Given the description of an element on the screen output the (x, y) to click on. 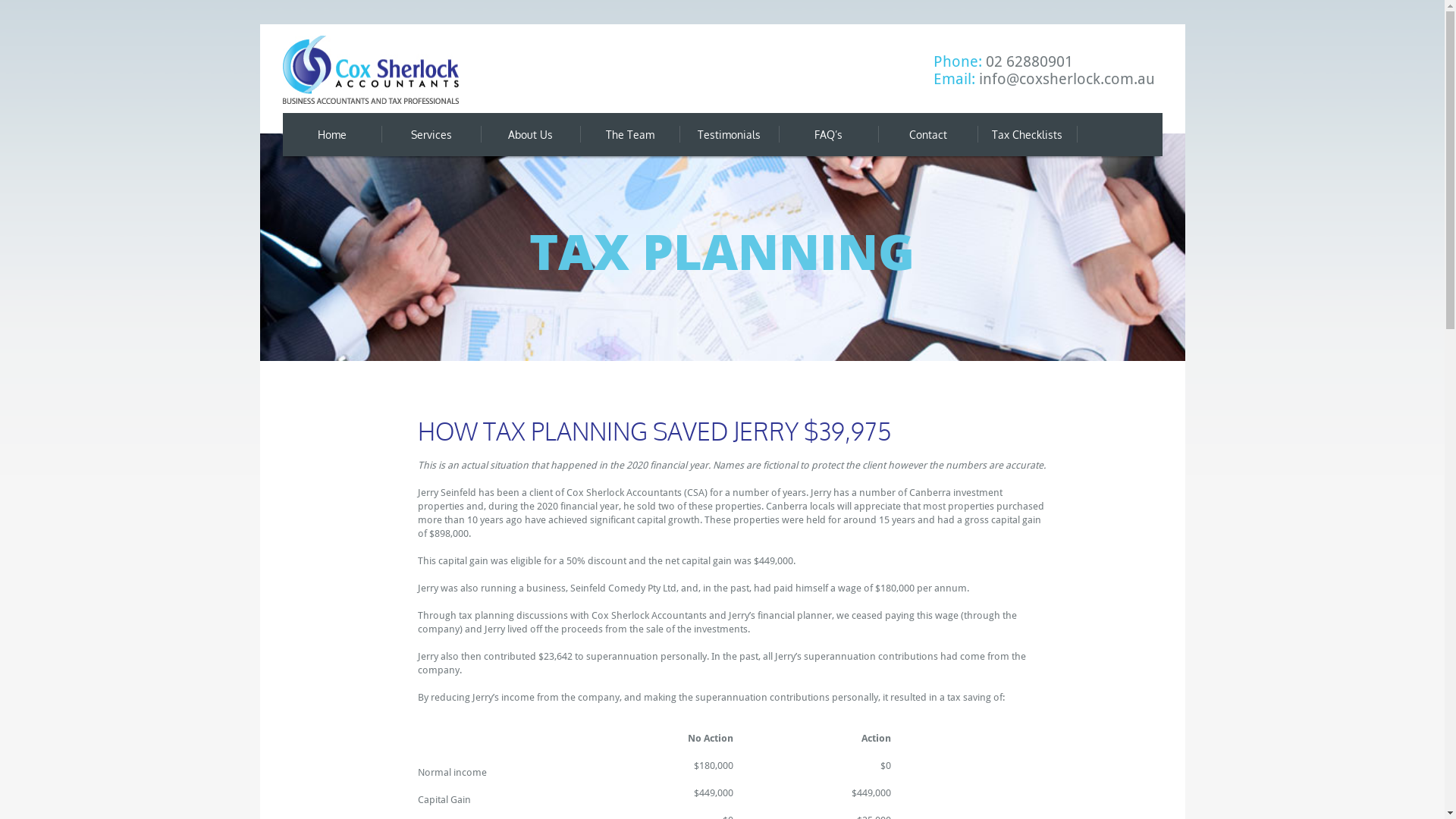
Testimonials Element type: text (729, 134)
The Team Element type: text (629, 134)
Contact Element type: text (928, 134)
Cox Sherlock Accounting Element type: hover (370, 69)
Tax Checklists Element type: text (1026, 134)
Services Element type: text (430, 134)
About Us Element type: text (530, 134)
Home Element type: text (332, 134)
